Given the description of an element on the screen output the (x, y) to click on. 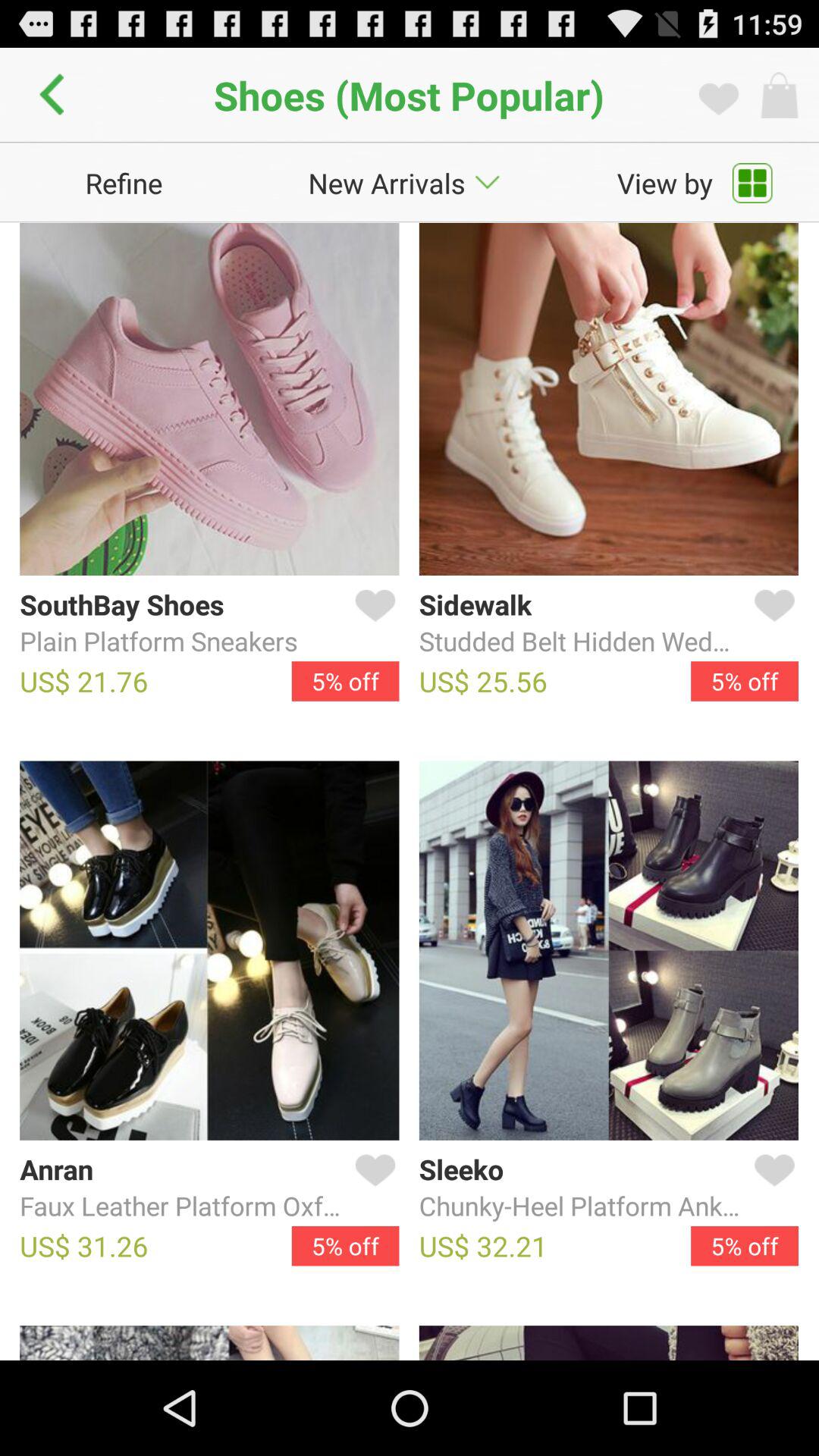
give like (771, 1188)
